Given the description of an element on the screen output the (x, y) to click on. 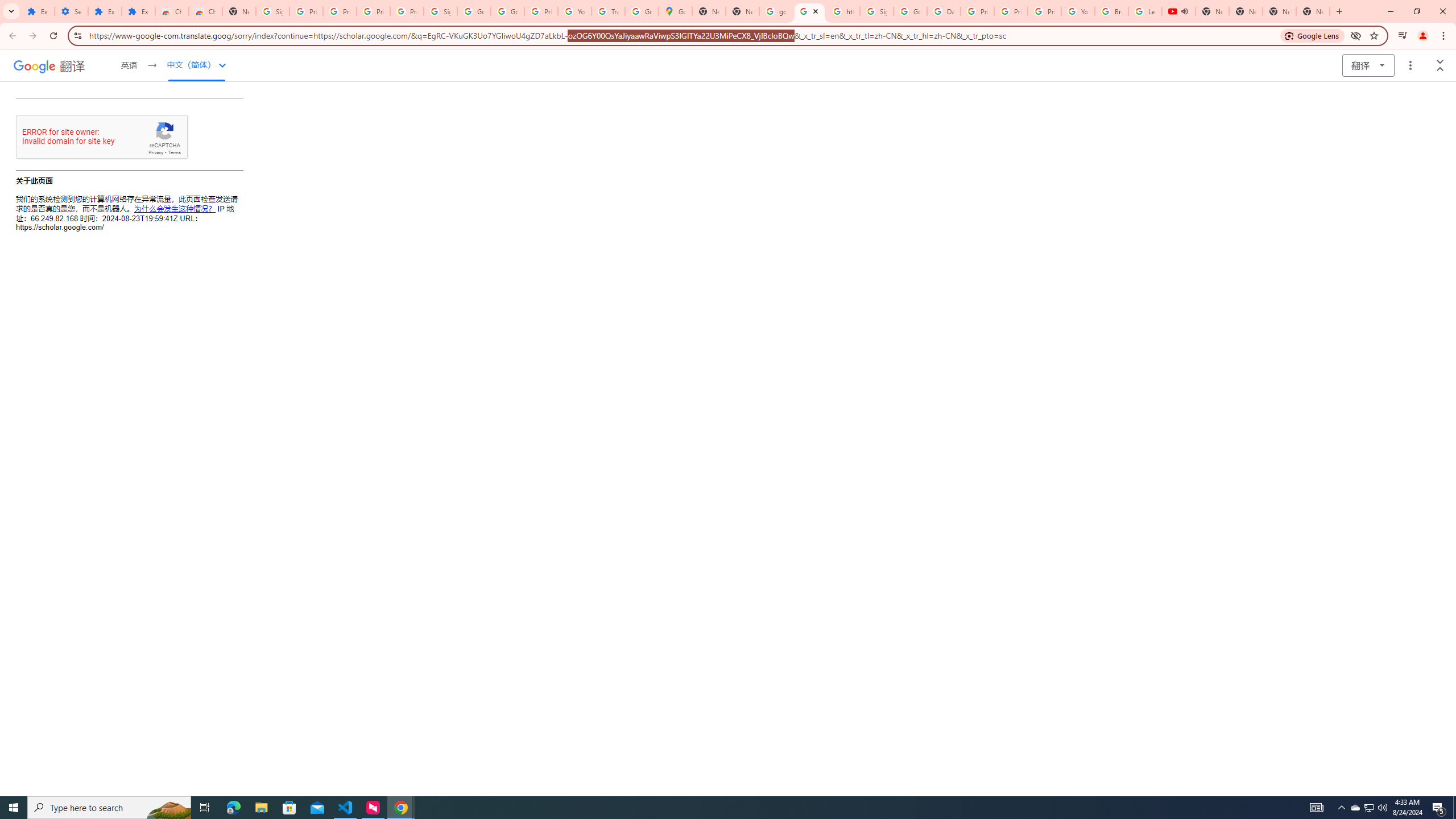
Extensions (138, 11)
Privacy Help Center - Policies Help (976, 11)
New Tab (1313, 11)
